Given the description of an element on the screen output the (x, y) to click on. 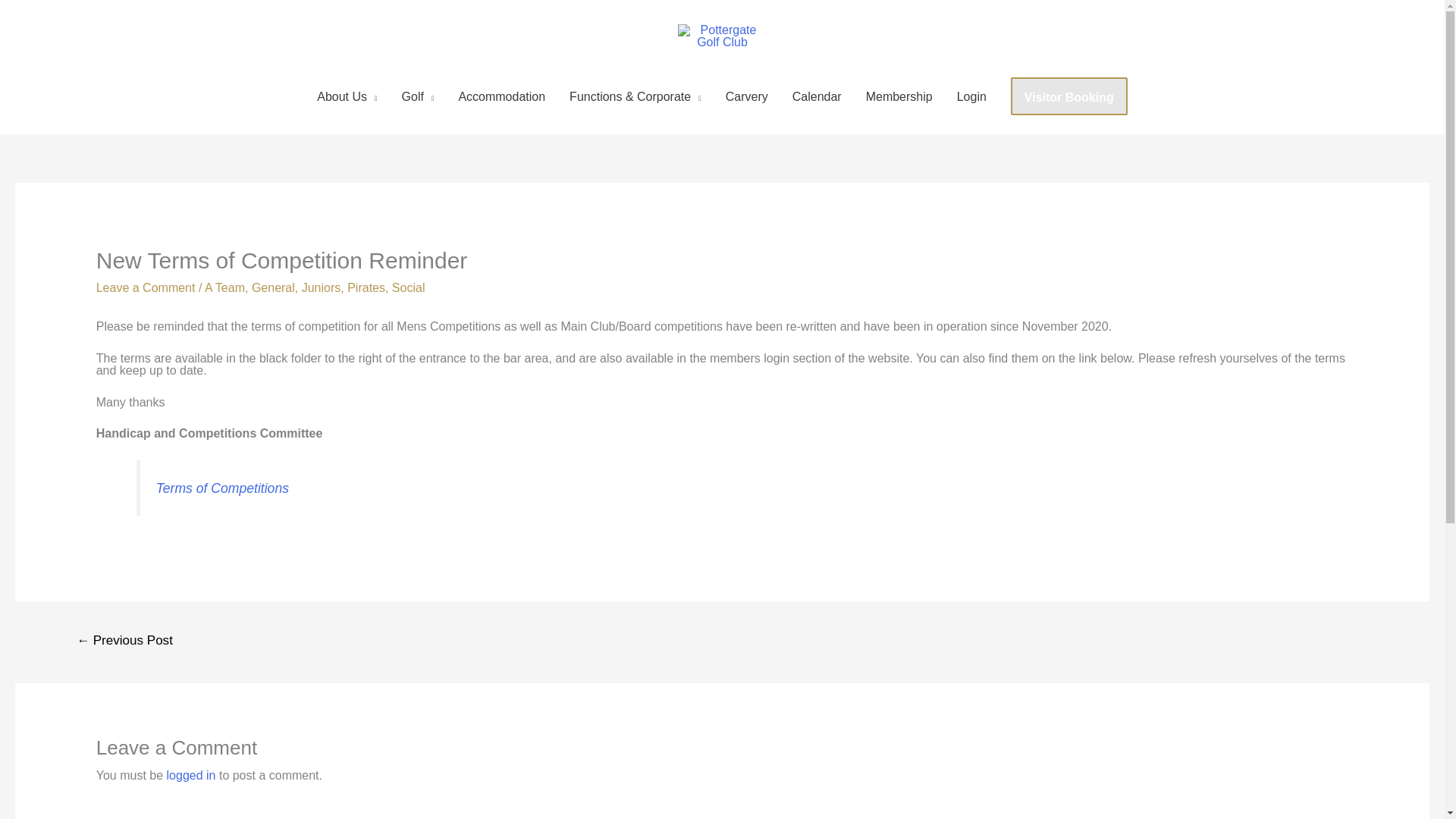
About Us (346, 96)
Carvery (746, 96)
Accommodation (501, 96)
Golf (418, 96)
